Given the description of an element on the screen output the (x, y) to click on. 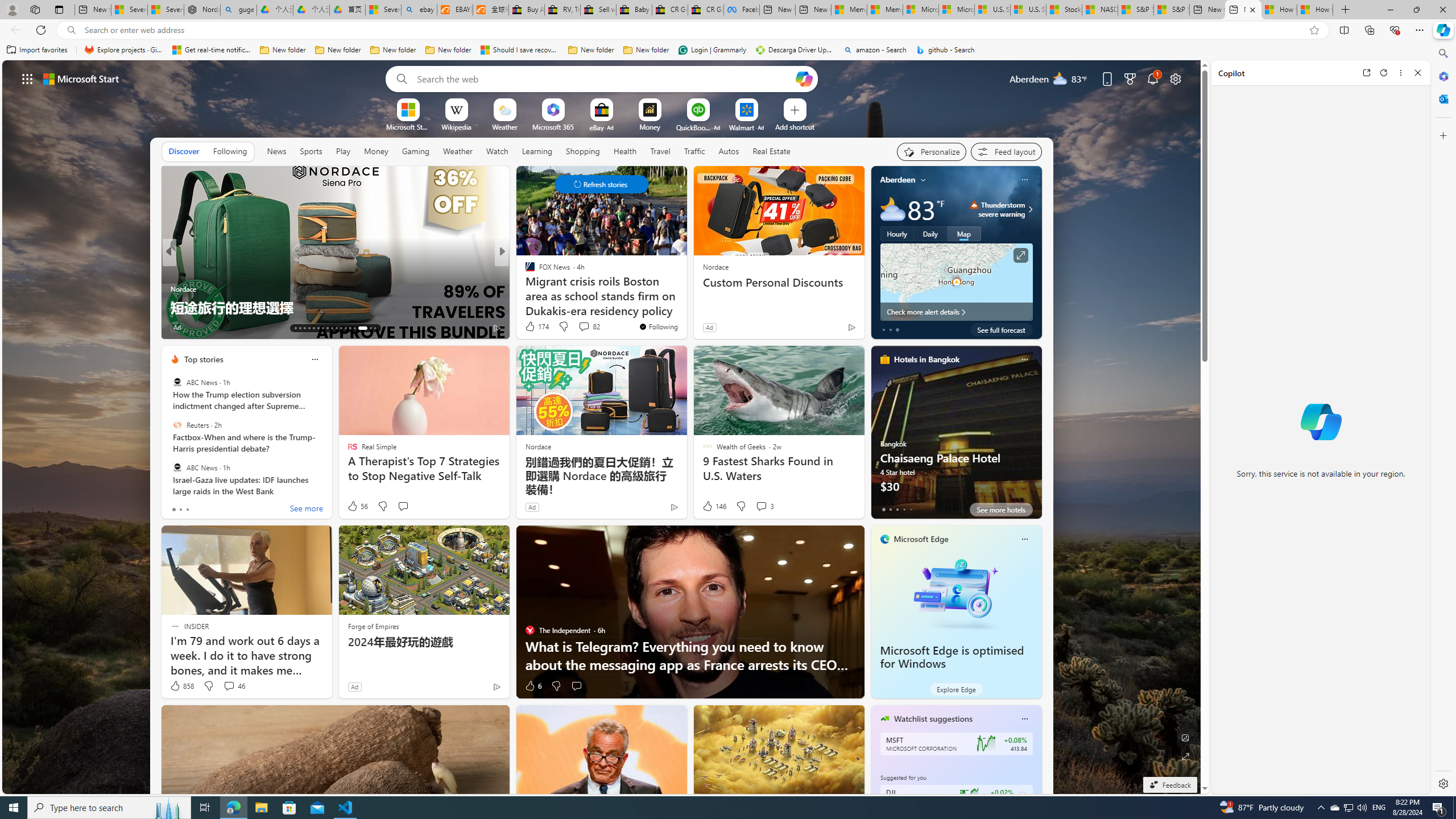
Start the conversation (576, 685)
View comments 82 Comment (588, 326)
Personalize your feed" (931, 151)
146 Like (713, 505)
Watchlist suggestions (932, 718)
174 Like (536, 326)
RV, Trailer & Camper Steps & Ladders for sale | eBay (562, 9)
New folder (646, 49)
Microsoft 365 (1442, 76)
Add a site (793, 126)
Thunderstorm - Severe Thunderstorm severe warning (997, 208)
View comments 2 Comment (226, 327)
AutomationID: waffle (27, 78)
AutomationID: tab-19 (322, 328)
